Given the description of an element on the screen output the (x, y) to click on. 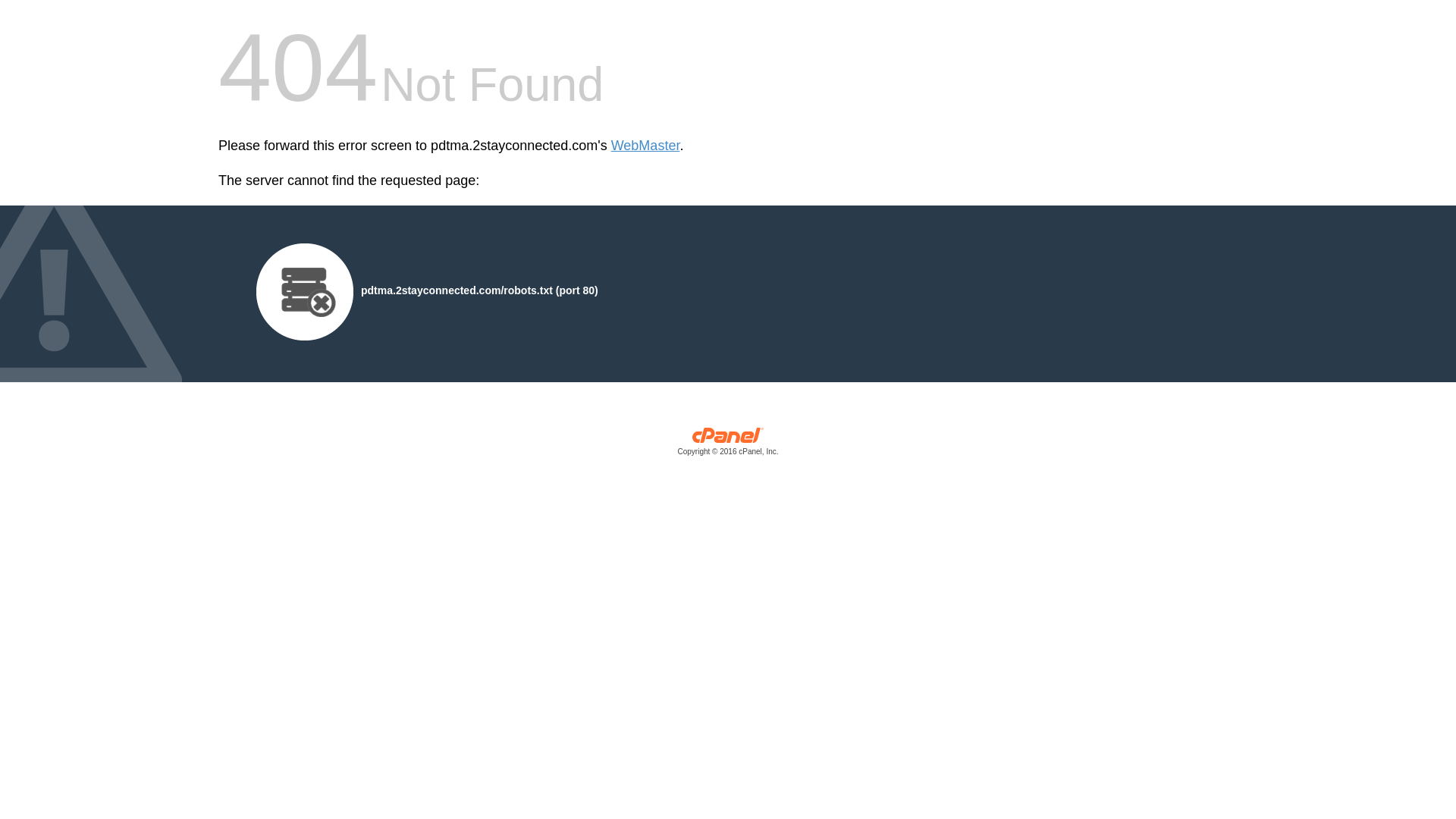
WebMaster Element type: text (645, 145)
